Given the description of an element on the screen output the (x, y) to click on. 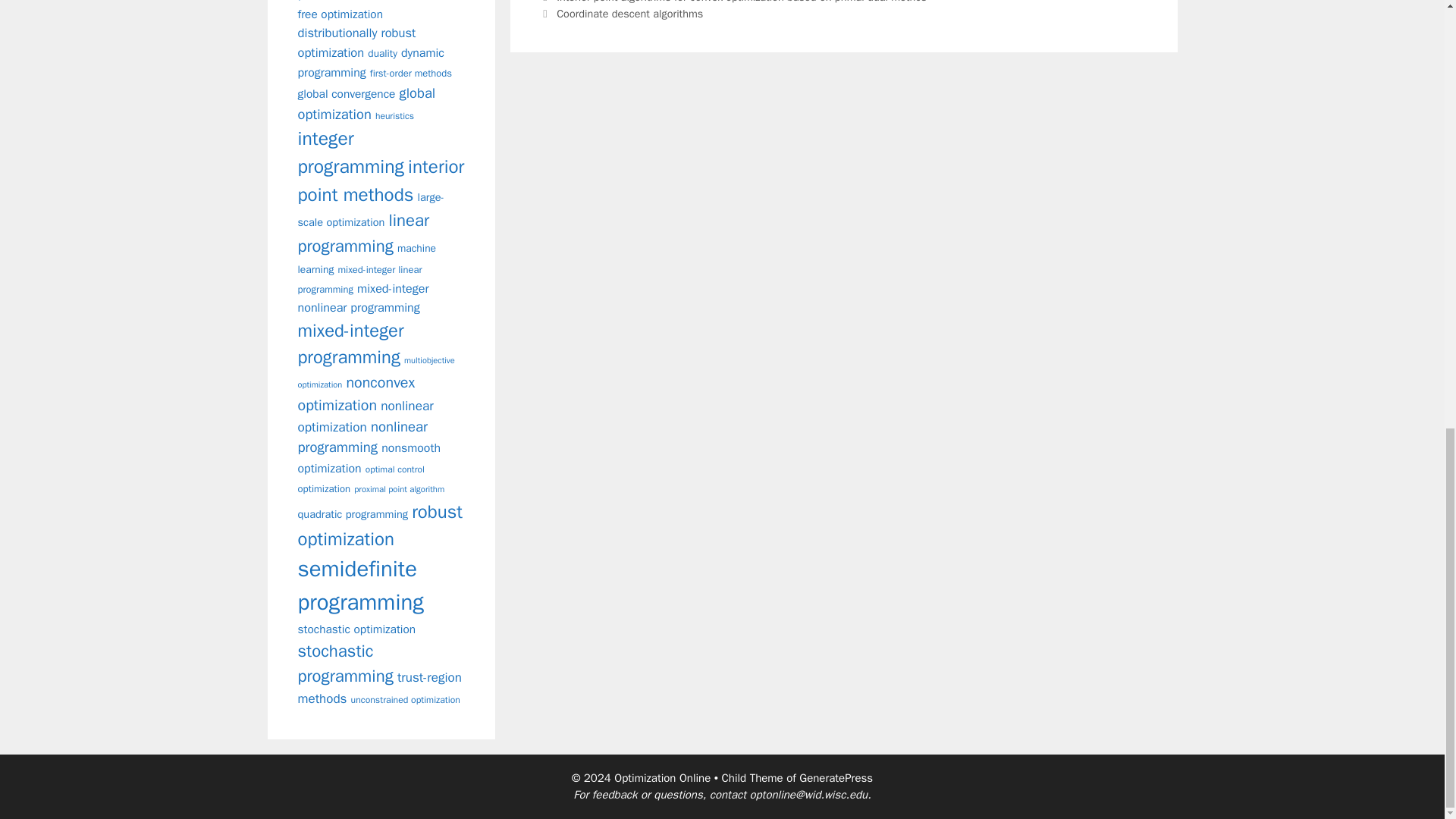
Next (621, 13)
Coordinate descent algorithms (629, 13)
